Given the description of an element on the screen output the (x, y) to click on. 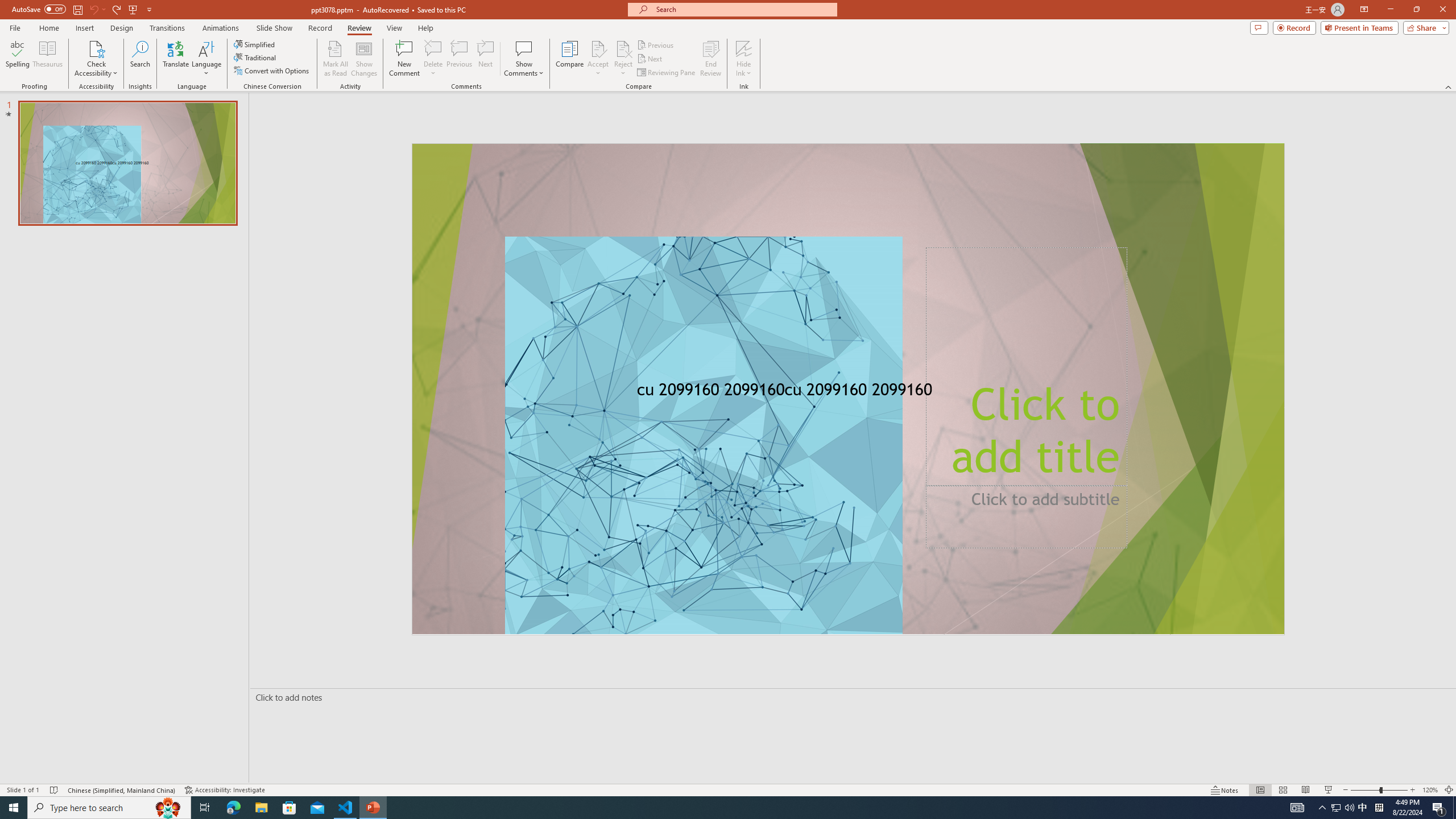
Compare (569, 58)
Language (206, 58)
Reject Change (622, 48)
Mark All as Read (335, 58)
Next (649, 58)
